Given the description of an element on the screen output the (x, y) to click on. 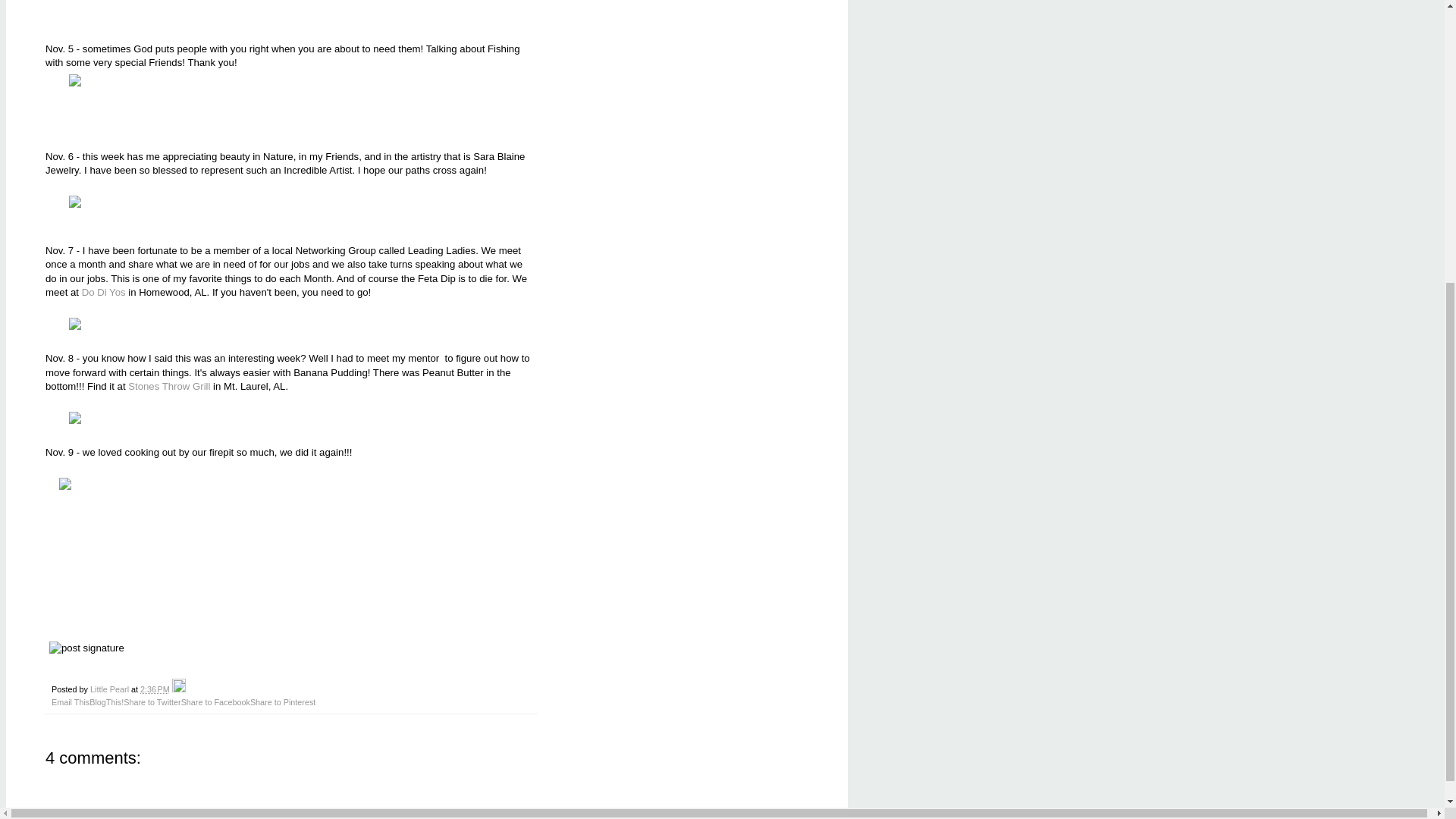
Share to Facebook (215, 701)
Email This (69, 701)
Share to Twitter (151, 701)
Share to Facebook (215, 701)
Share to Twitter (151, 701)
Stones Throw Grill (168, 386)
Share to Pinterest (282, 701)
Edit Post (178, 688)
BlogThis! (105, 701)
permanent link (154, 688)
